Given the description of an element on the screen output the (x, y) to click on. 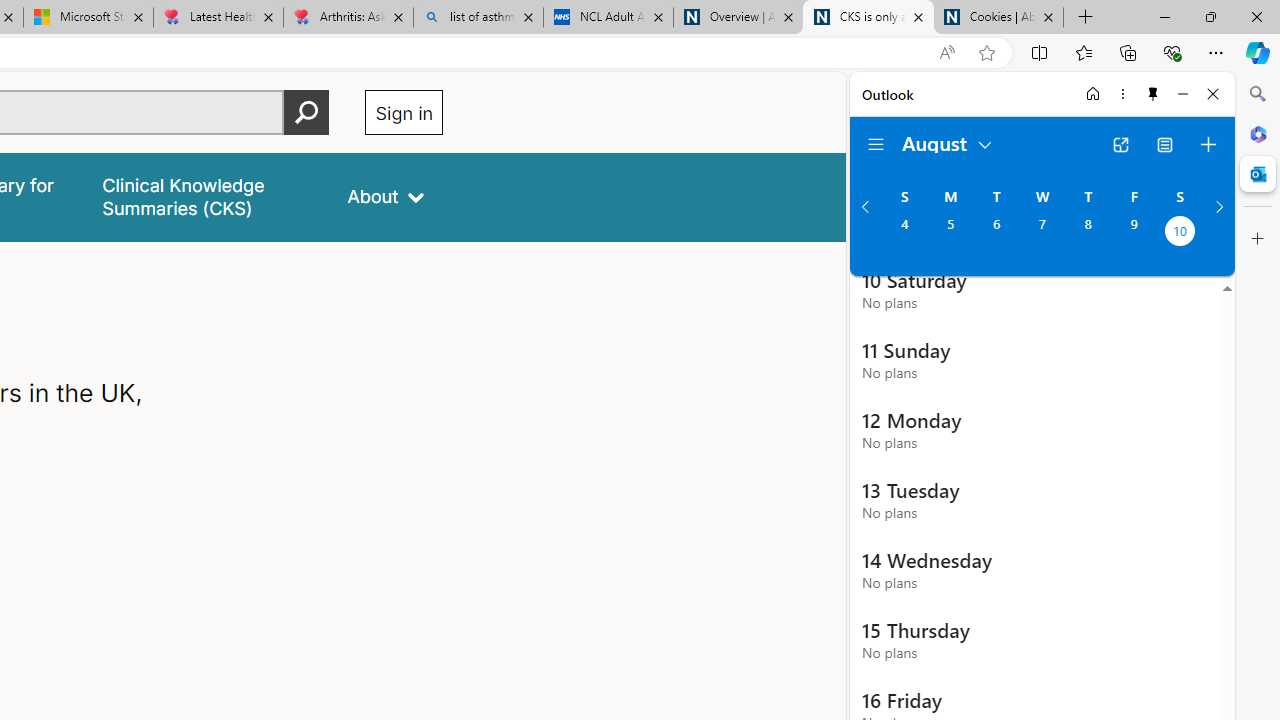
Open in new tab (1120, 144)
New Tab (1085, 17)
Close (1213, 93)
Close Customize pane (1258, 239)
About (386, 196)
Arthritis: Ask Health Professionals (348, 17)
Collections (1128, 52)
Perform search (307, 112)
Browser essentials (1171, 52)
Copilot (Ctrl+Shift+.) (1258, 52)
